Given the description of an element on the screen output the (x, y) to click on. 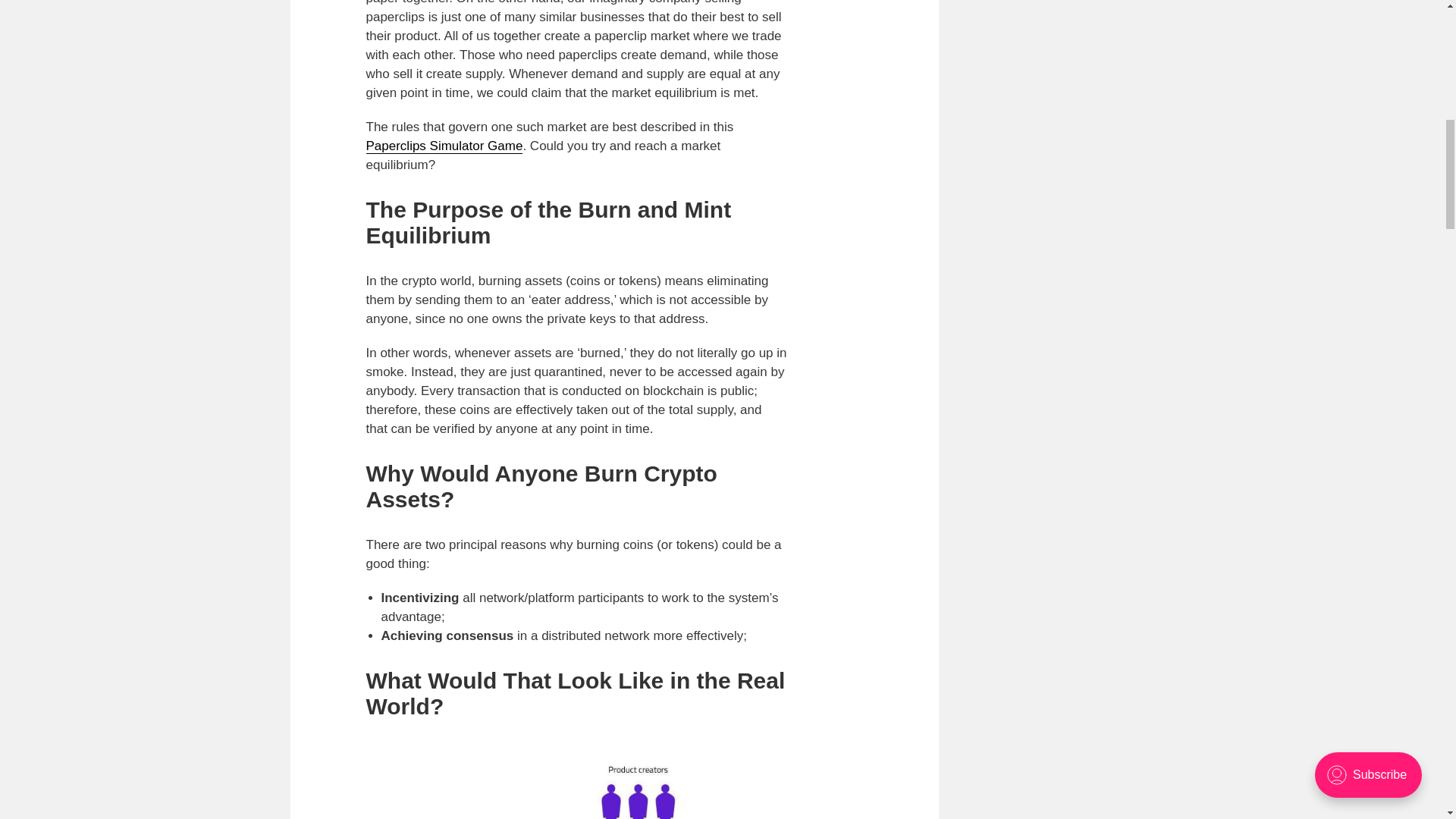
Paperclips Simulator Game (443, 145)
